Given the description of an element on the screen output the (x, y) to click on. 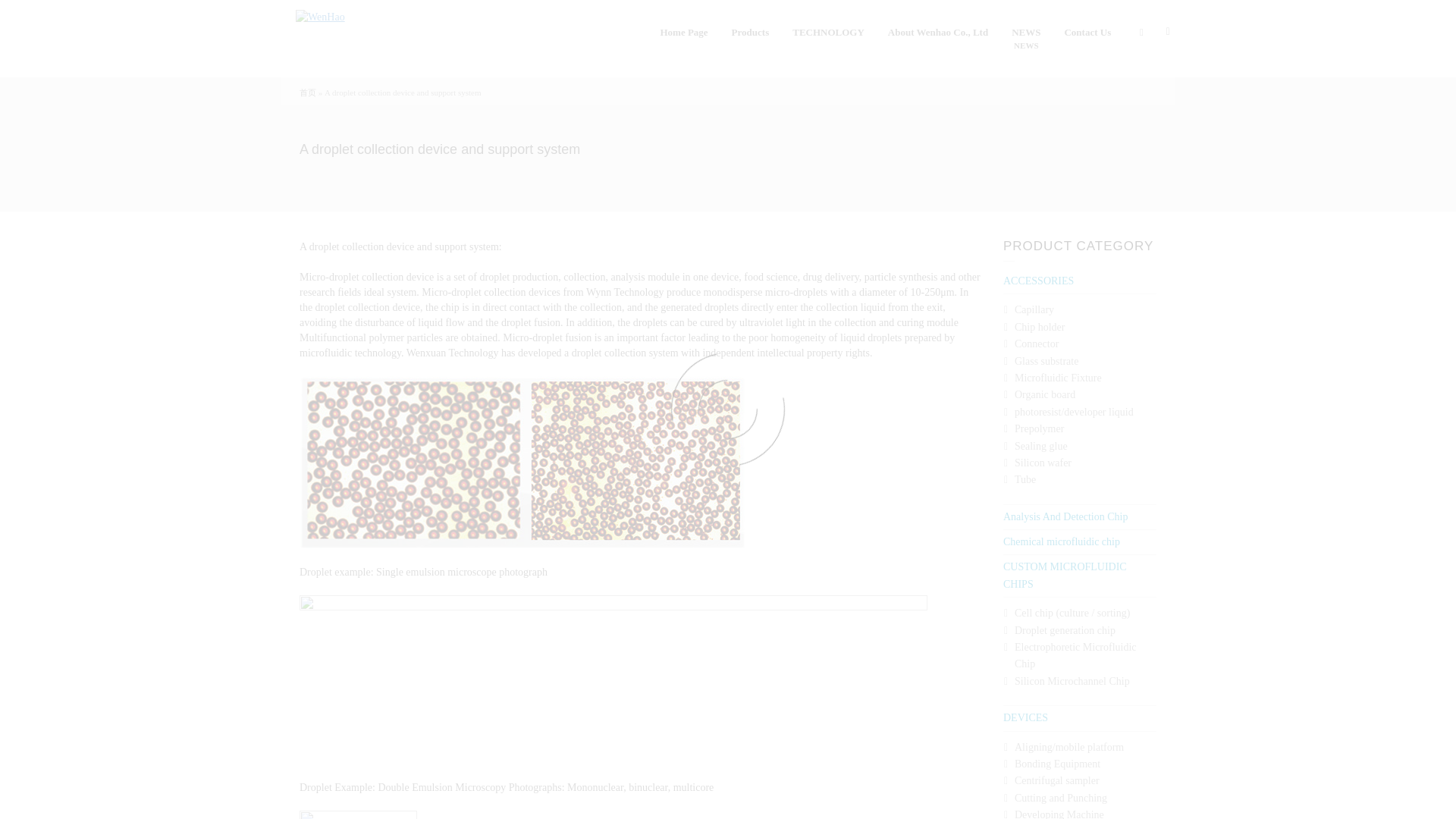
Home Page (683, 33)
Sealing glue (1040, 446)
WenHao (320, 16)
Glass substrate (1046, 360)
Chip holder (1039, 326)
Capillary (1034, 309)
silicon wafer (1042, 462)
Microfluidic Fixture (1058, 378)
Connector (1036, 343)
